Given the description of an element on the screen output the (x, y) to click on. 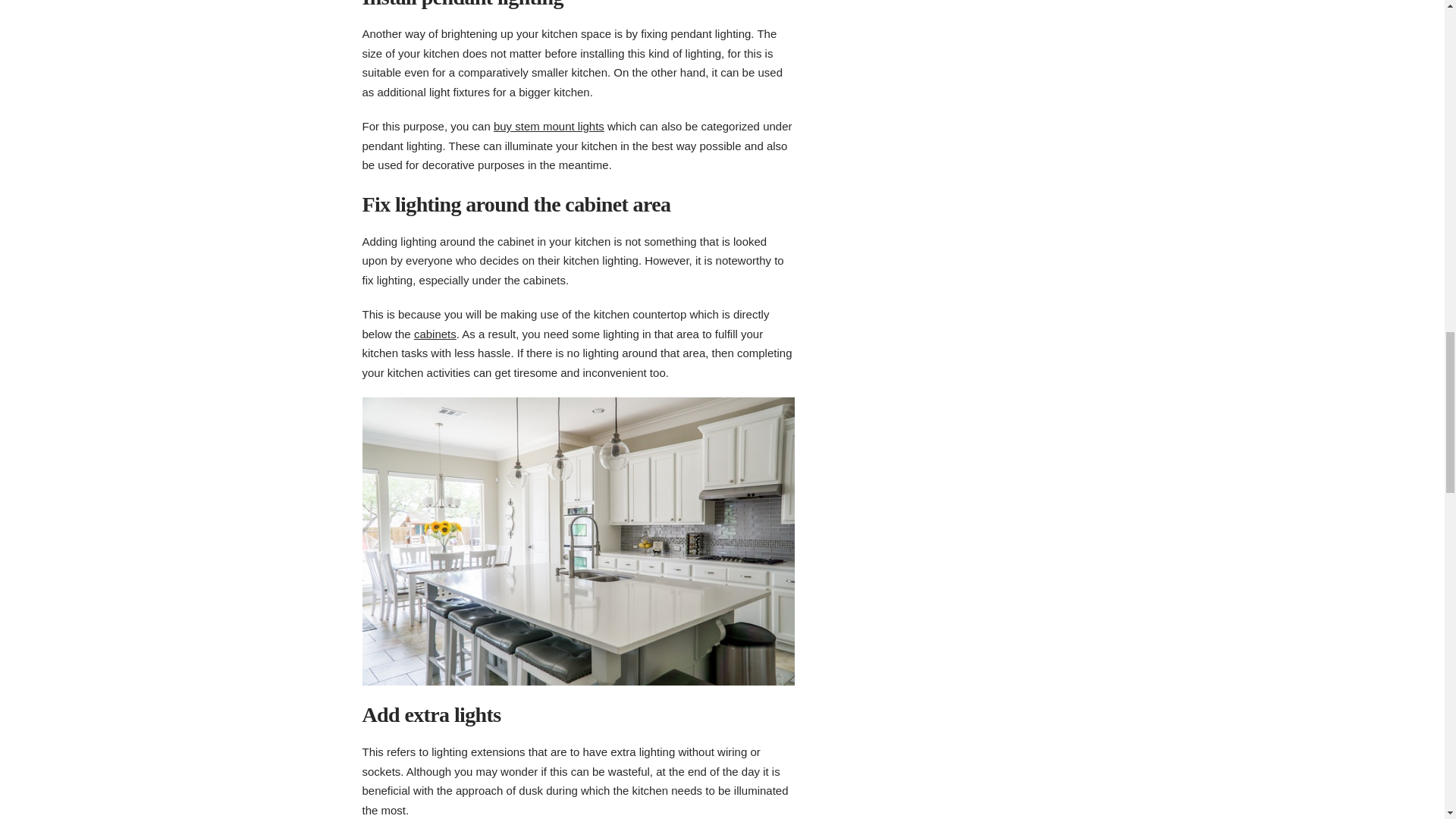
buy stem mount lights (548, 125)
cabinets (435, 333)
